Given the description of an element on the screen output the (x, y) to click on. 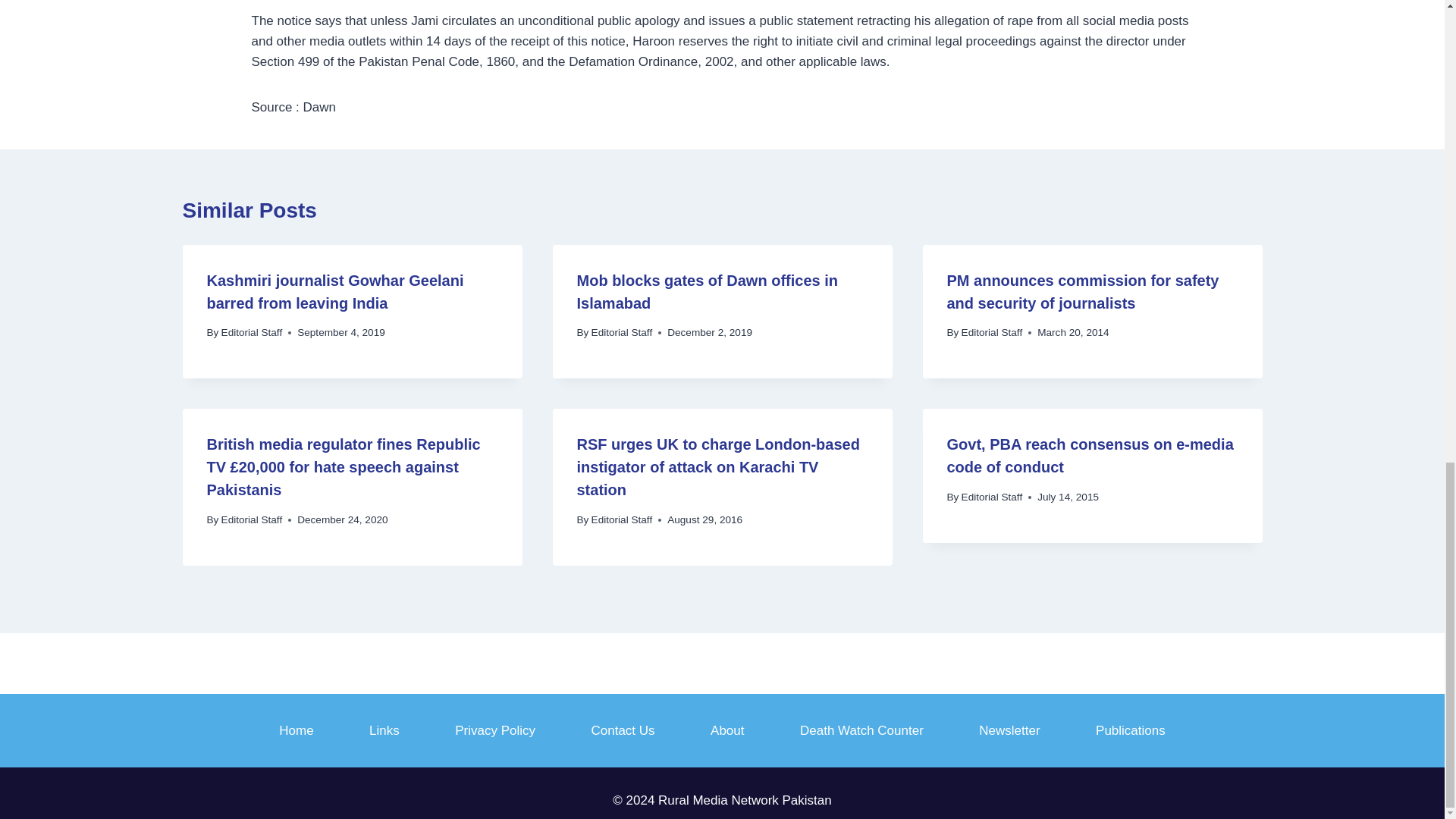
Editorial Staff (621, 519)
Mob blocks gates of Dawn offices in Islamabad (707, 291)
Editorial Staff (621, 332)
Editorial Staff (251, 332)
Kashmiri journalist Gowhar Geelani barred from leaving India (334, 291)
Editorial Staff (991, 332)
Govt, PBA reach consensus on e-media code of conduct (1089, 455)
Editorial Staff (251, 519)
